Given the description of an element on the screen output the (x, y) to click on. 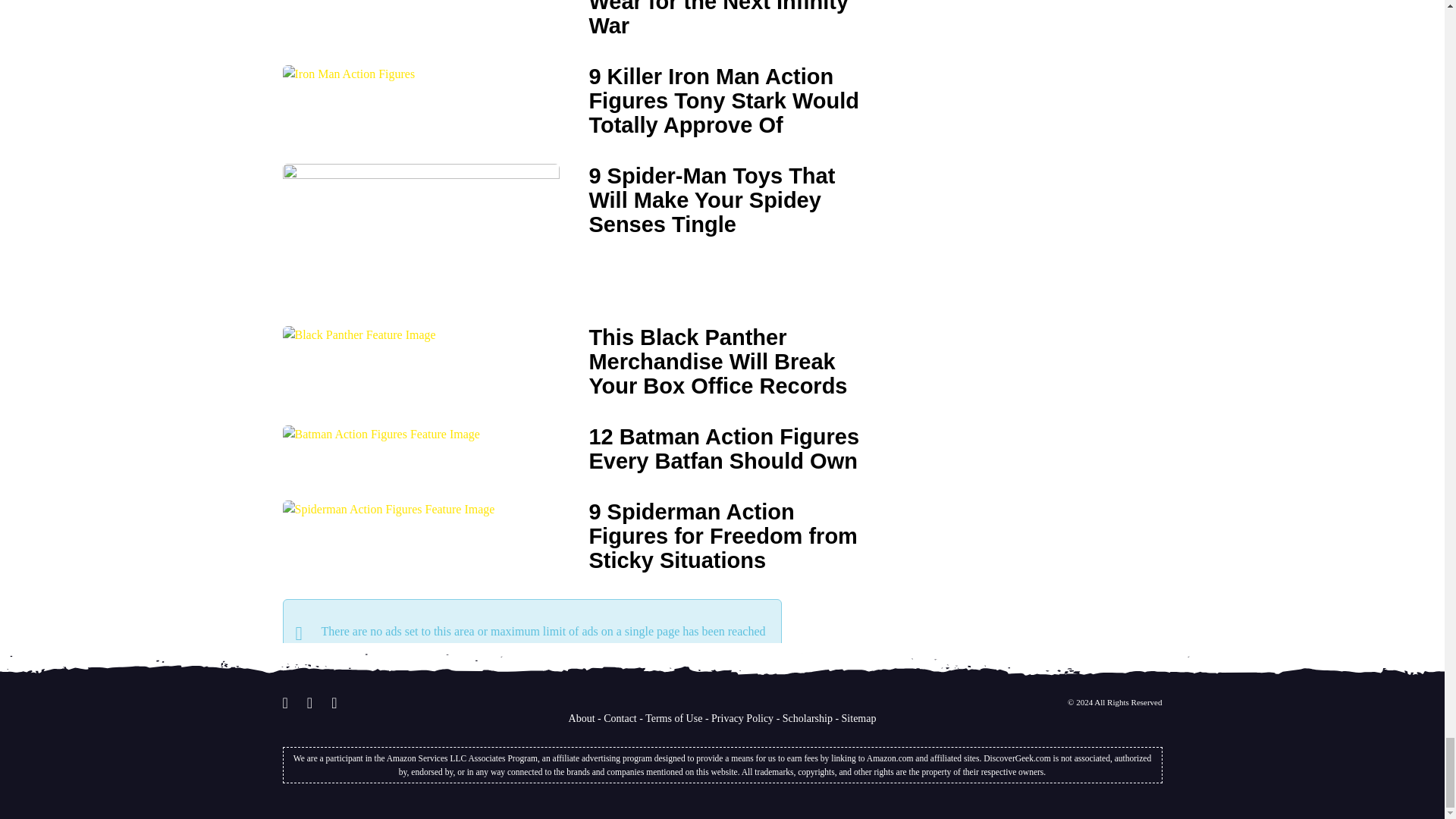
9 Spider-Man Toys That Will Make Your Spidey Senses Tingle (420, 231)
12 Batman Action Figures Every Batfan Should Own (380, 432)
